Given the description of an element on the screen output the (x, y) to click on. 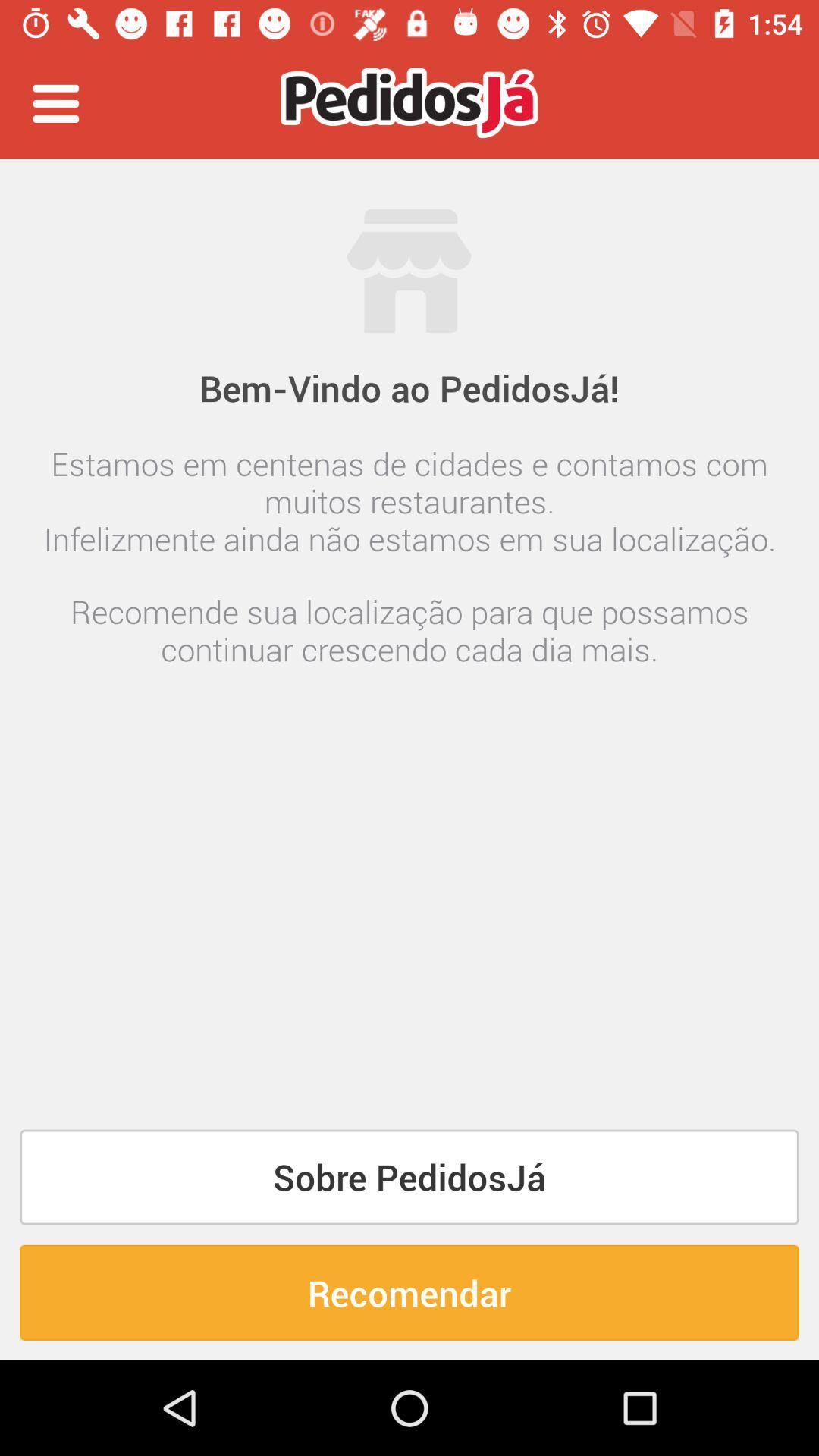
launch the item at the top left corner (55, 103)
